Given the description of an element on the screen output the (x, y) to click on. 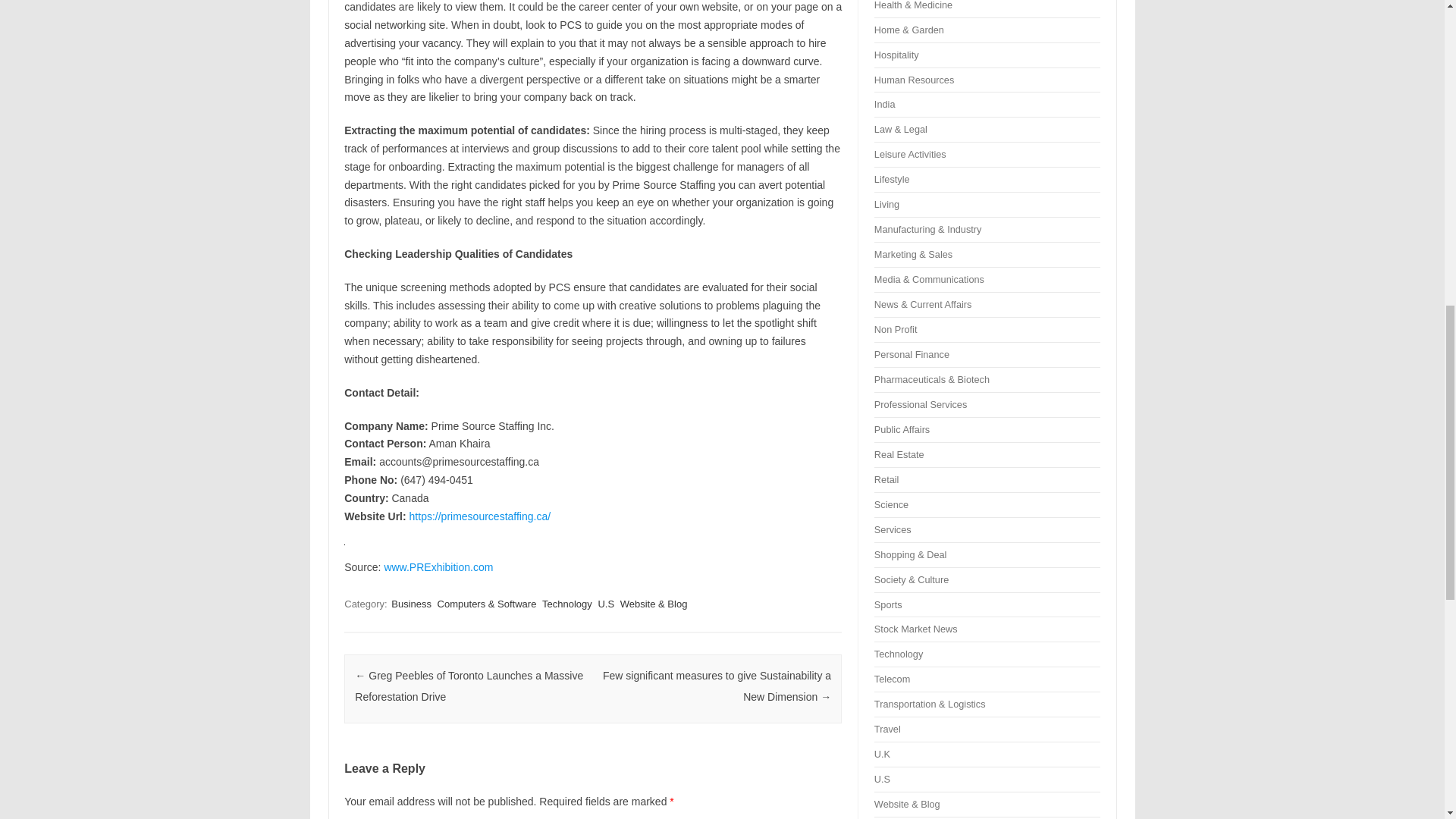
U.S (605, 603)
Technology (567, 603)
www.PRExhibition.com (438, 567)
Business (411, 603)
